Given the description of an element on the screen output the (x, y) to click on. 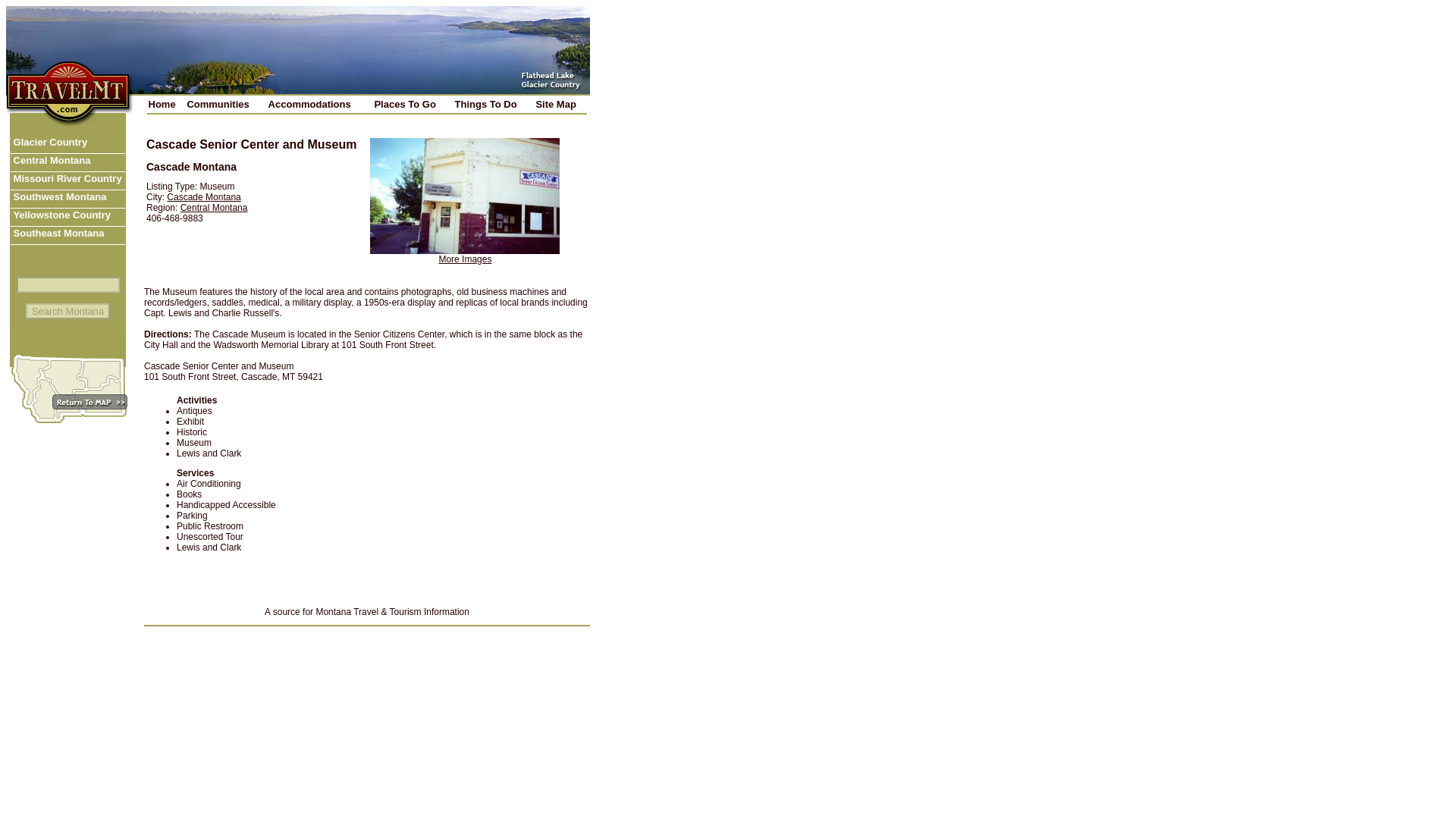
Home (165, 103)
Central Montana (213, 207)
Site Map (560, 103)
Search Montana (68, 311)
 Glacier Country (67, 144)
 Southwest Montana (67, 199)
Places To Go (410, 103)
More Images (465, 258)
Communities (224, 103)
 Missouri River Country (67, 180)
Cascade Montana (203, 196)
Things To Do (491, 103)
Search Montana (68, 311)
 Southeast Montana (67, 235)
 Central Montana (67, 162)
